Given the description of an element on the screen output the (x, y) to click on. 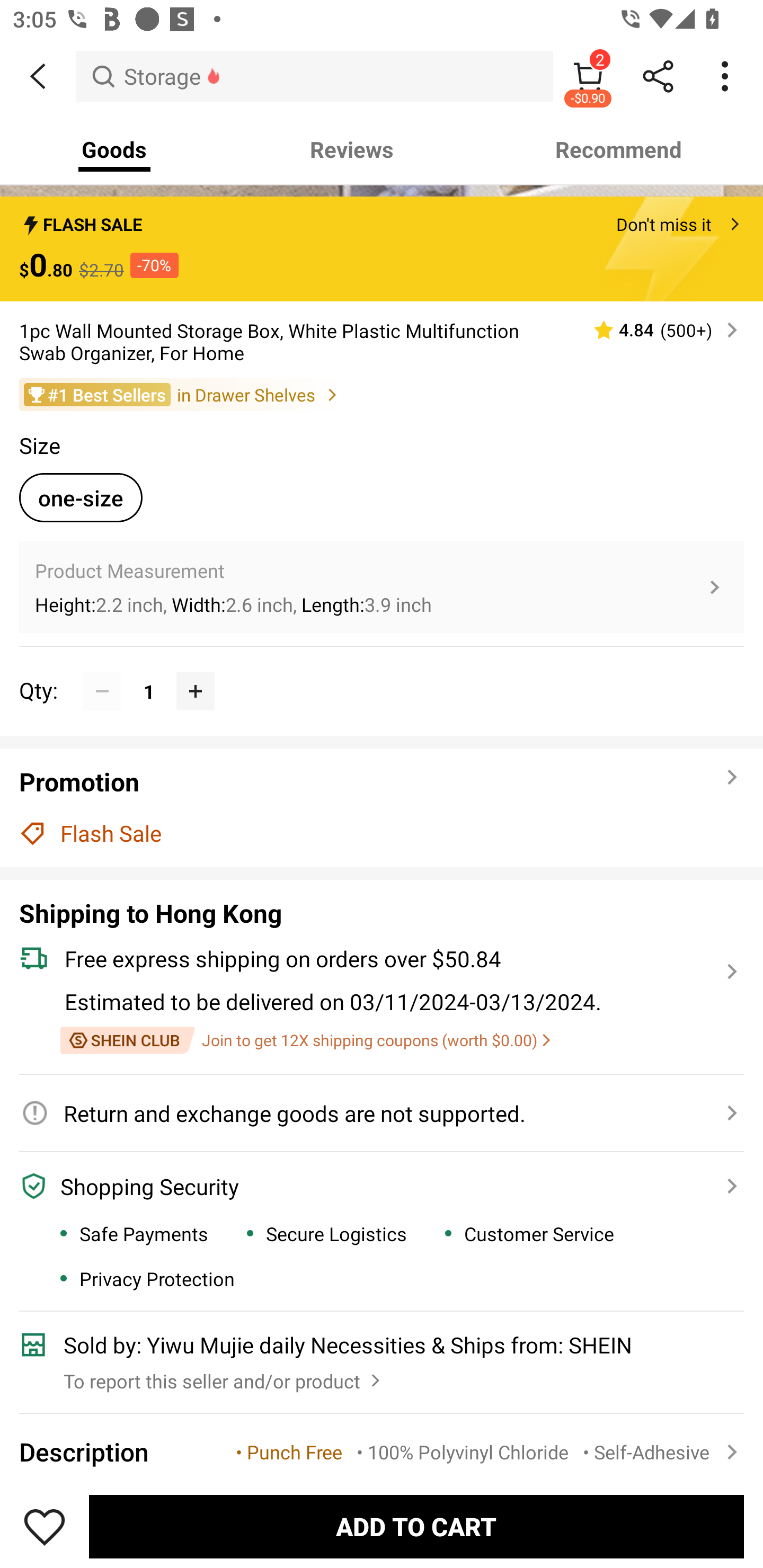
BACK (38, 75)
2 -$0.90 (588, 75)
Storage (314, 75)
Goods (114, 149)
Reviews (351, 149)
Recommend (618, 149)
FLASH SALE Don't miss it $0.80 $2.70 -70% (381, 248)
FLASH SALE Don't miss it (381, 219)
4.84 (500‎+) (658, 329)
#1 Best Sellers in Drawer Shelves (381, 393)
Size (39, 444)
one-size one-sizeselected option (80, 497)
Qty: 1 (381, 671)
Promotion Flash Sale (381, 807)
Join to get 12X shipping coupons (worth $0.00) (305, 1040)
Return and exchange goods are not supported. (370, 1112)
To report this seller and/or product   (224, 1376)
ADD TO CART (416, 1526)
Save (44, 1526)
